Given the description of an element on the screen output the (x, y) to click on. 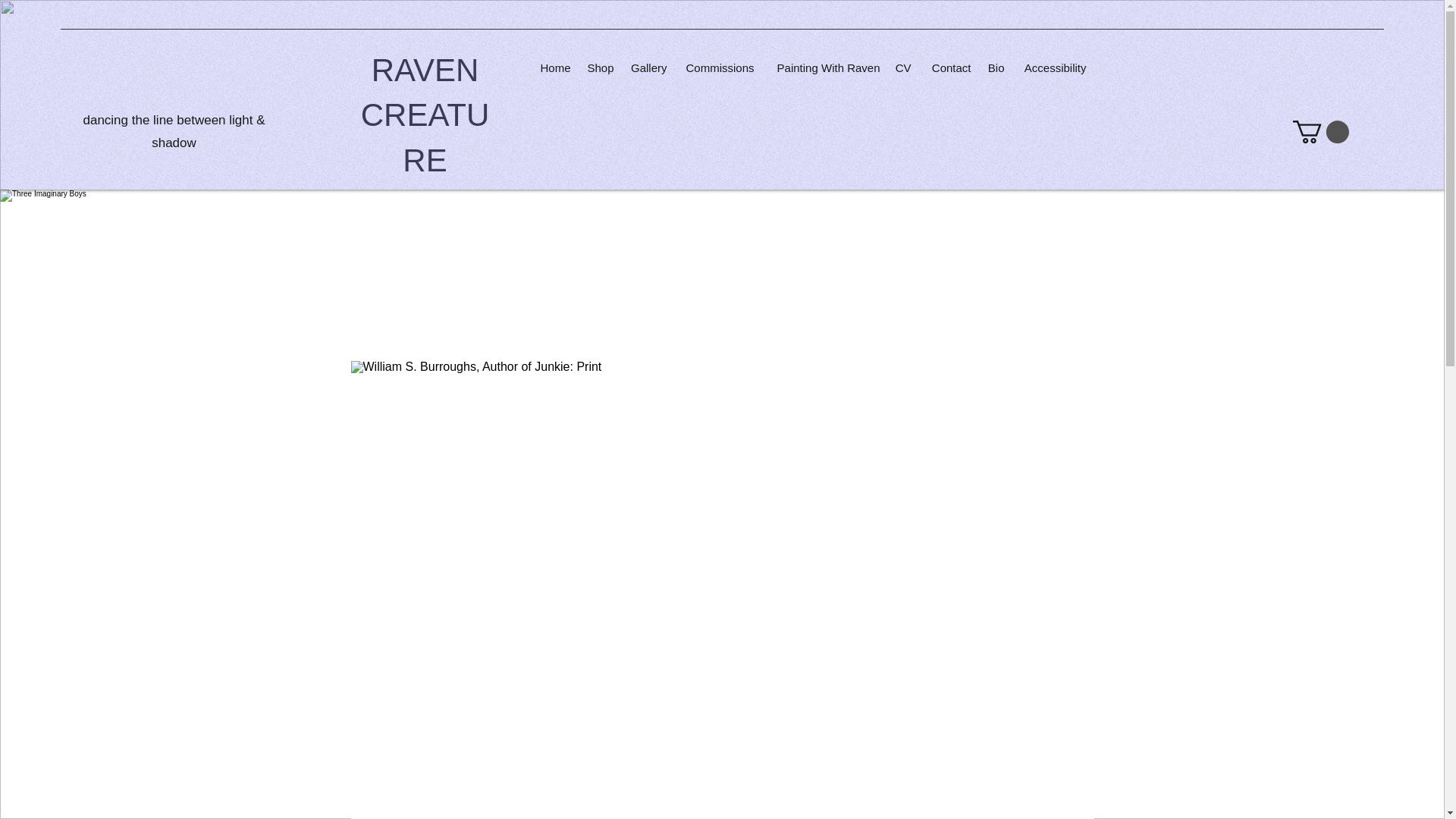
Accessibility (1052, 67)
Bio (994, 67)
Gallery (648, 67)
Contact (948, 67)
CV (902, 67)
RAVEN CREATURE (425, 114)
Shop (599, 67)
Commissions (718, 67)
Home (554, 67)
Painting With Raven (823, 67)
